Given the description of an element on the screen output the (x, y) to click on. 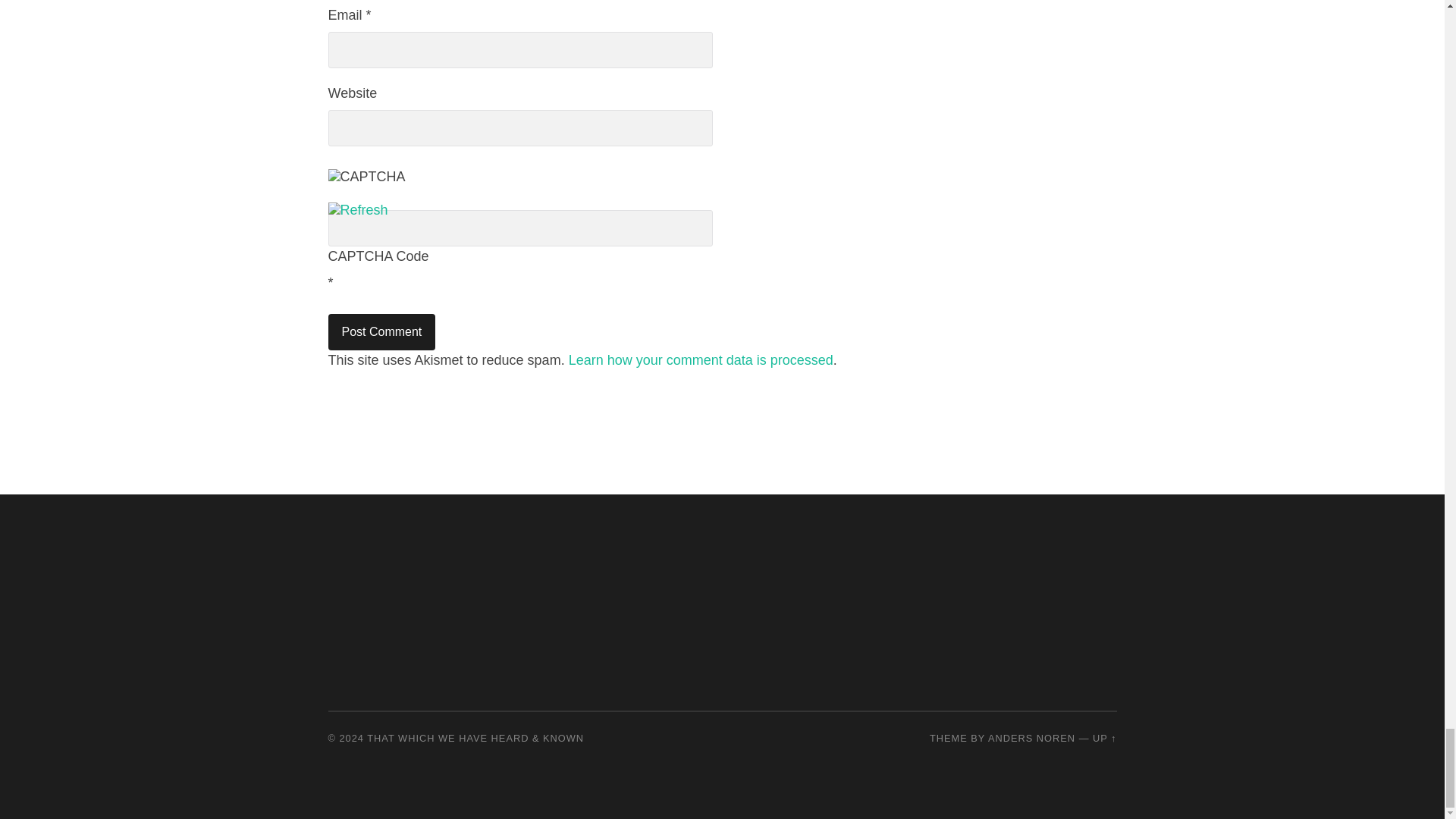
CAPTCHA (377, 184)
To the top (1104, 737)
Post Comment (381, 331)
Refresh (357, 209)
